Given the description of an element on the screen output the (x, y) to click on. 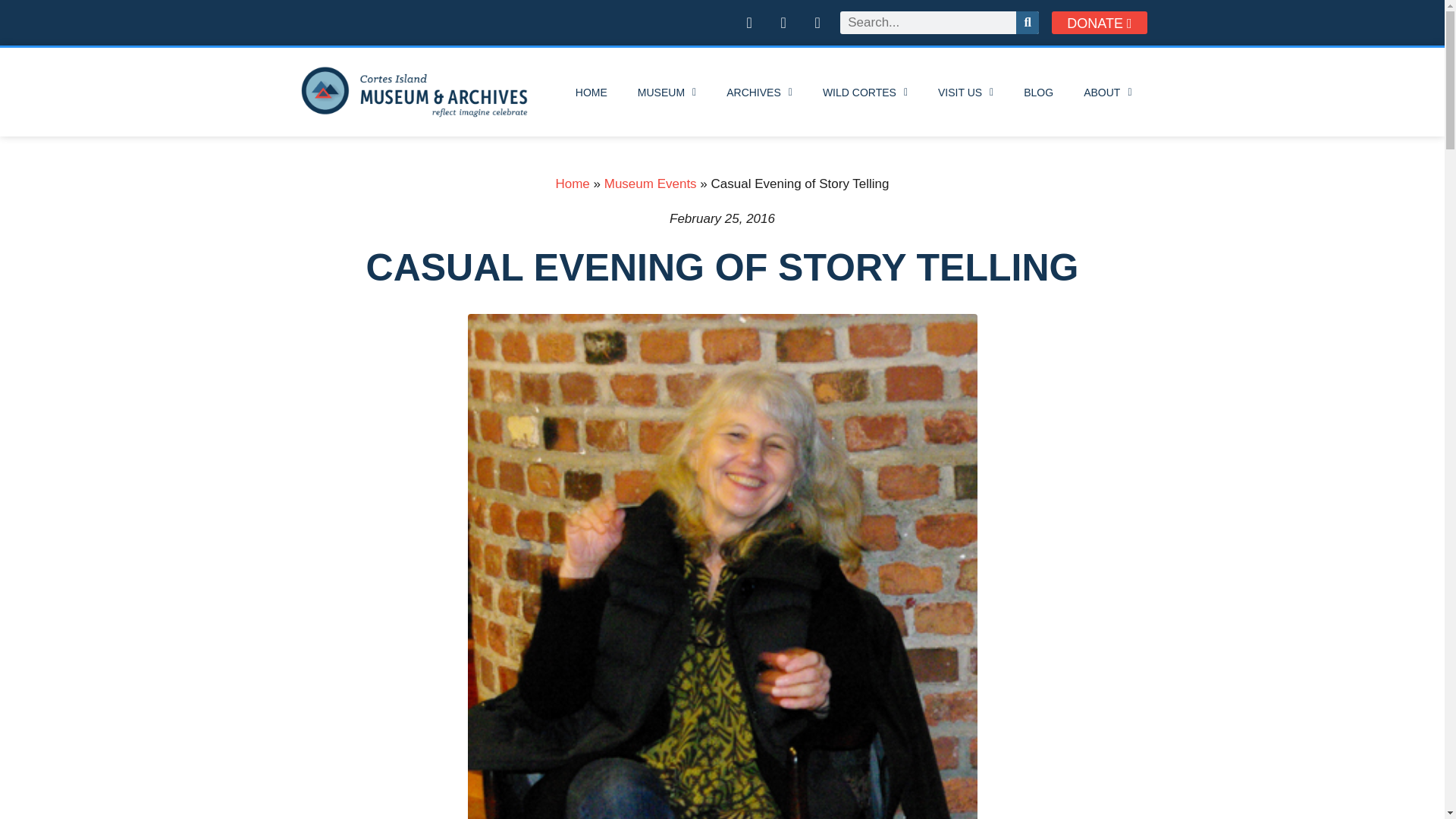
DONATE (1099, 22)
ABOUT (1107, 92)
HOME (591, 92)
MUSEUM (667, 92)
ARCHIVES (759, 92)
BLOG (1038, 92)
VISIT US (966, 92)
WILD CORTES (865, 92)
